Given the description of an element on the screen output the (x, y) to click on. 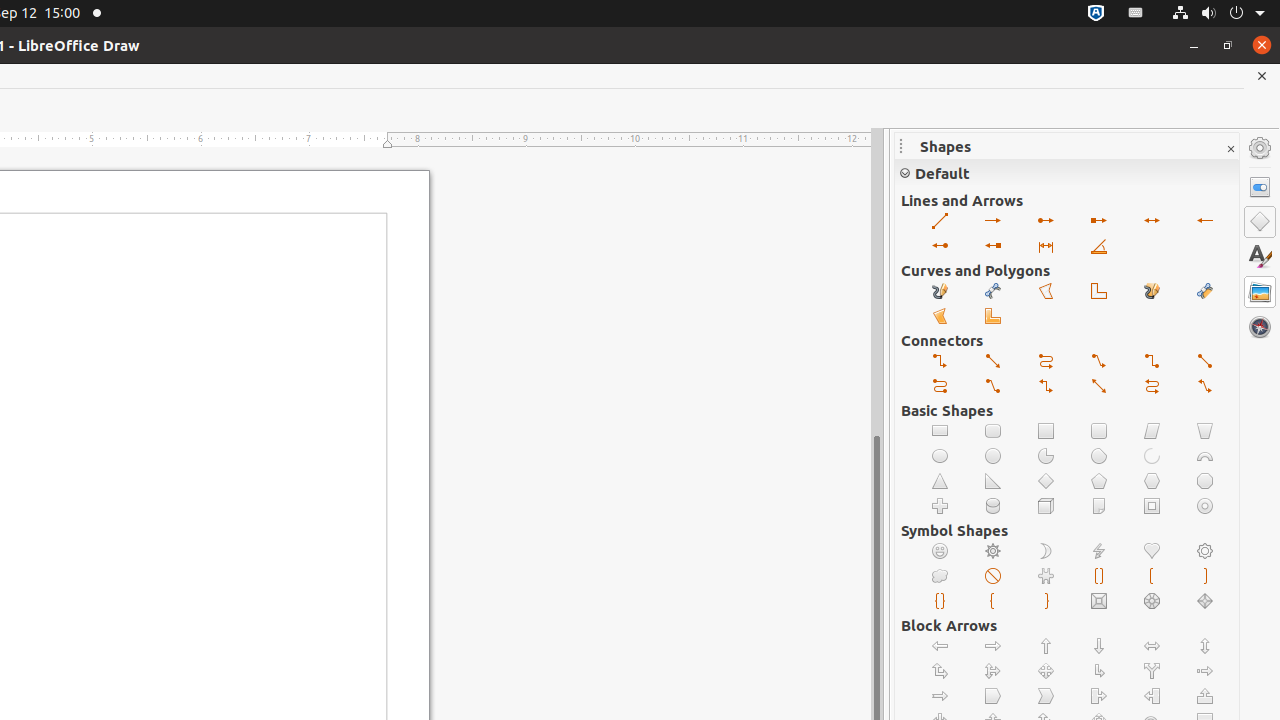
Left and Right Arrow Element type: list-item (1152, 646)
:1.72/StatusNotifierItem Element type: menu (1096, 13)
Freeform Line, Filled Element type: list-item (1152, 291)
Up and Down Arrow Element type: list-item (1205, 646)
Sun Element type: list-item (993, 551)
